Given the description of an element on the screen output the (x, y) to click on. 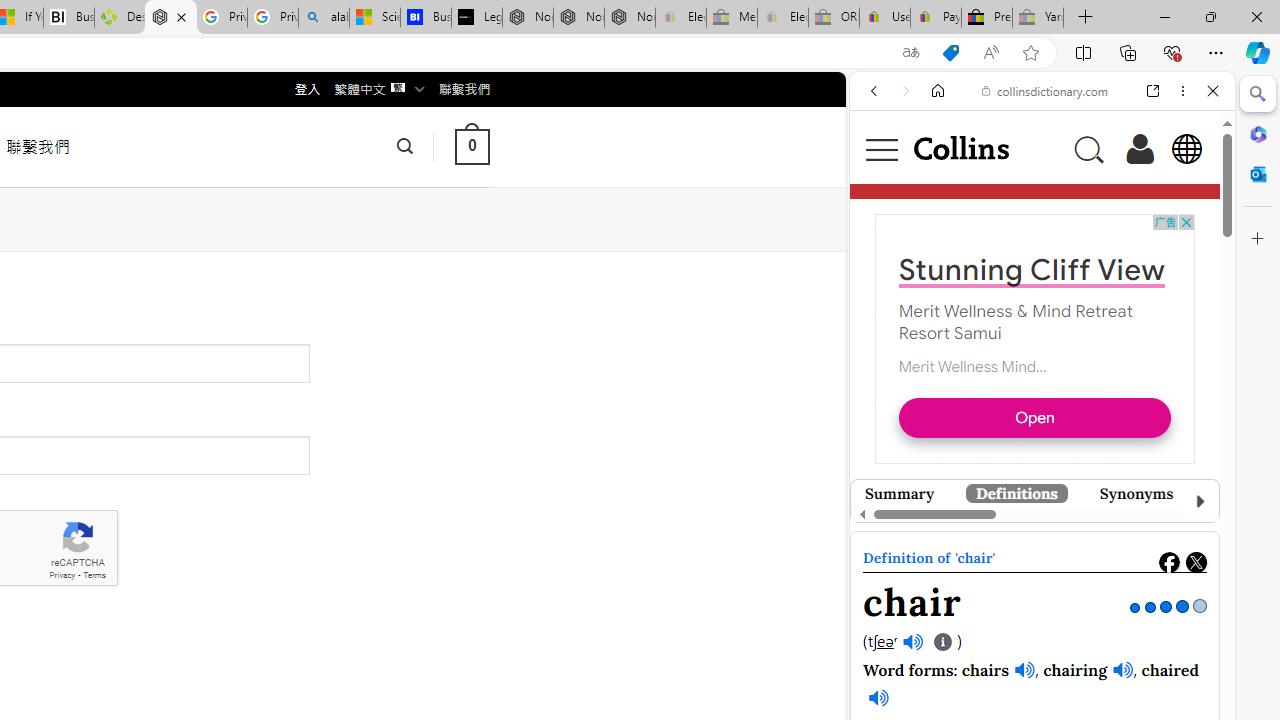
Stunning Cliff View (1018, 575)
collinsdictionary.com (1045, 90)
professorship (990, 691)
This site has coupons! Shopping in Microsoft Edge (950, 53)
IPA Pronunciation Guide (943, 642)
Terms (94, 575)
